Given the description of an element on the screen output the (x, y) to click on. 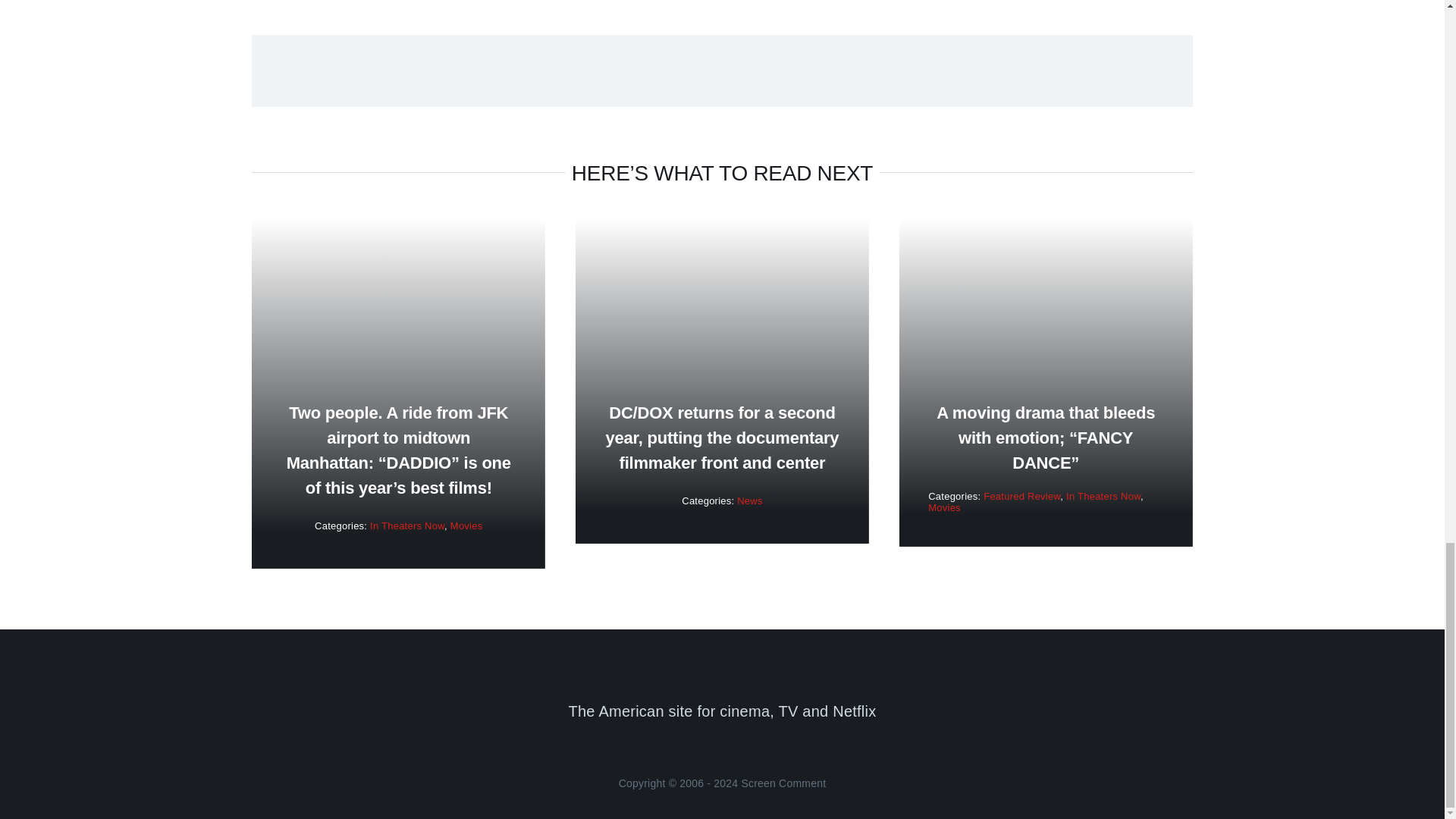
Movies (466, 525)
In Theaters Now (1102, 496)
Featured Review (1021, 496)
Movies (944, 507)
In Theaters Now (406, 525)
News (748, 500)
